Given the description of an element on the screen output the (x, y) to click on. 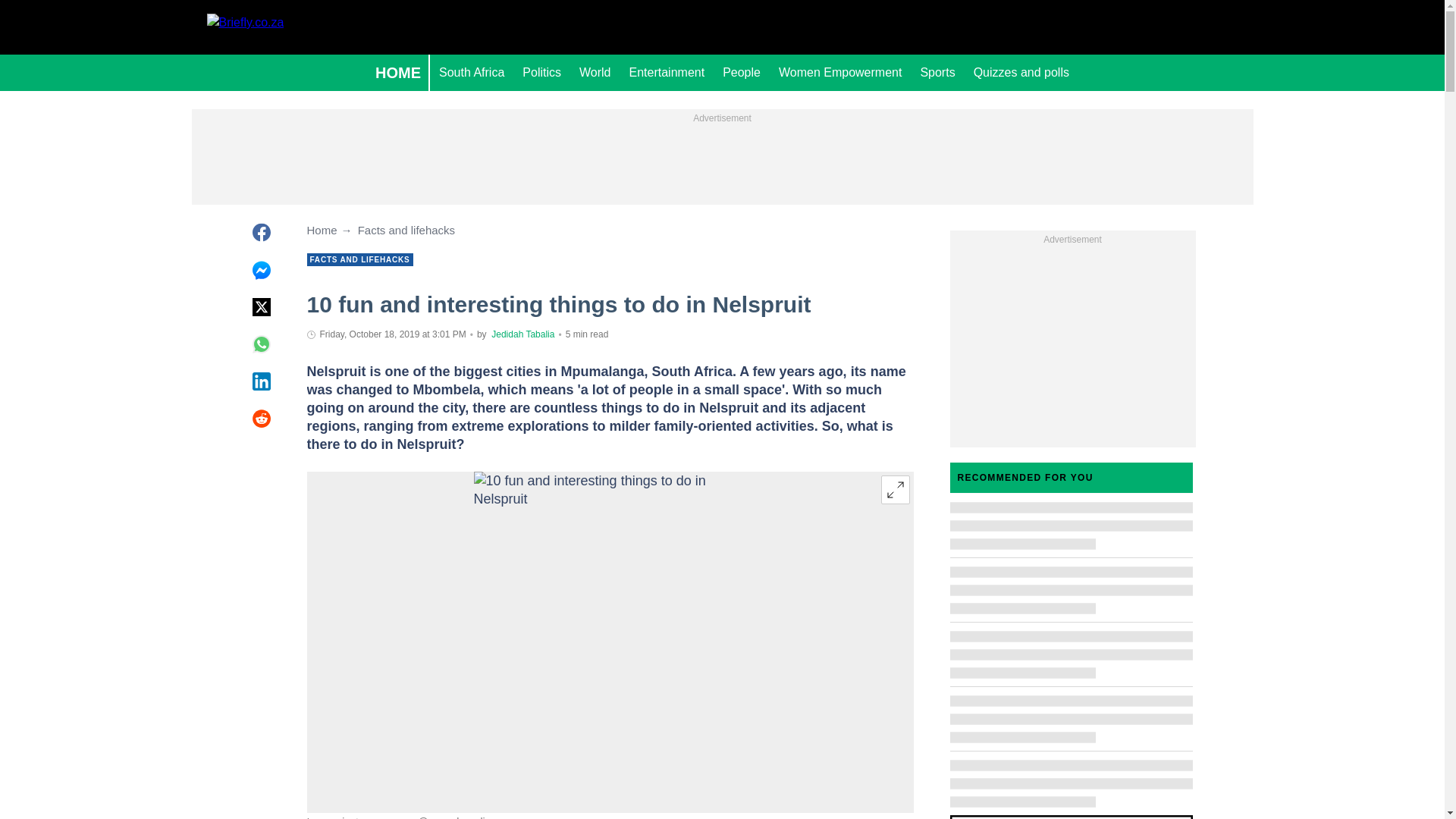
Expand image (895, 489)
World (595, 72)
Quizzes and polls (1020, 72)
Entertainment (667, 72)
HOME (397, 72)
Sports (937, 72)
Author page (523, 334)
Women Empowerment (840, 72)
Politics (541, 72)
South Africa (471, 72)
People (741, 72)
